Given the description of an element on the screen output the (x, y) to click on. 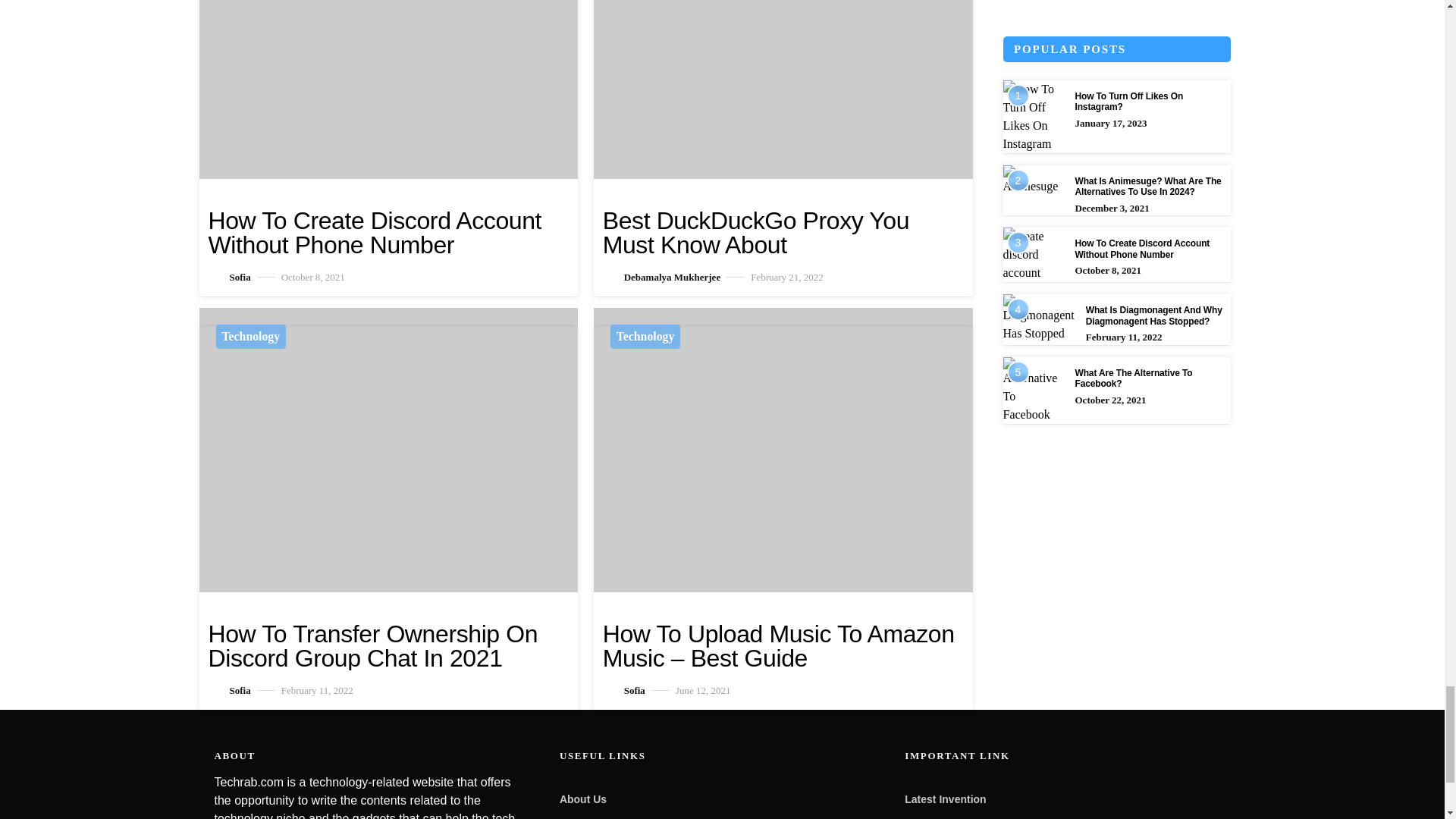
View all posts by Sofia (229, 689)
View all posts by Debamalya Mukherjee (661, 276)
View all posts by Sofia (229, 276)
View all posts by Sofia (623, 689)
